Given the description of an element on the screen output the (x, y) to click on. 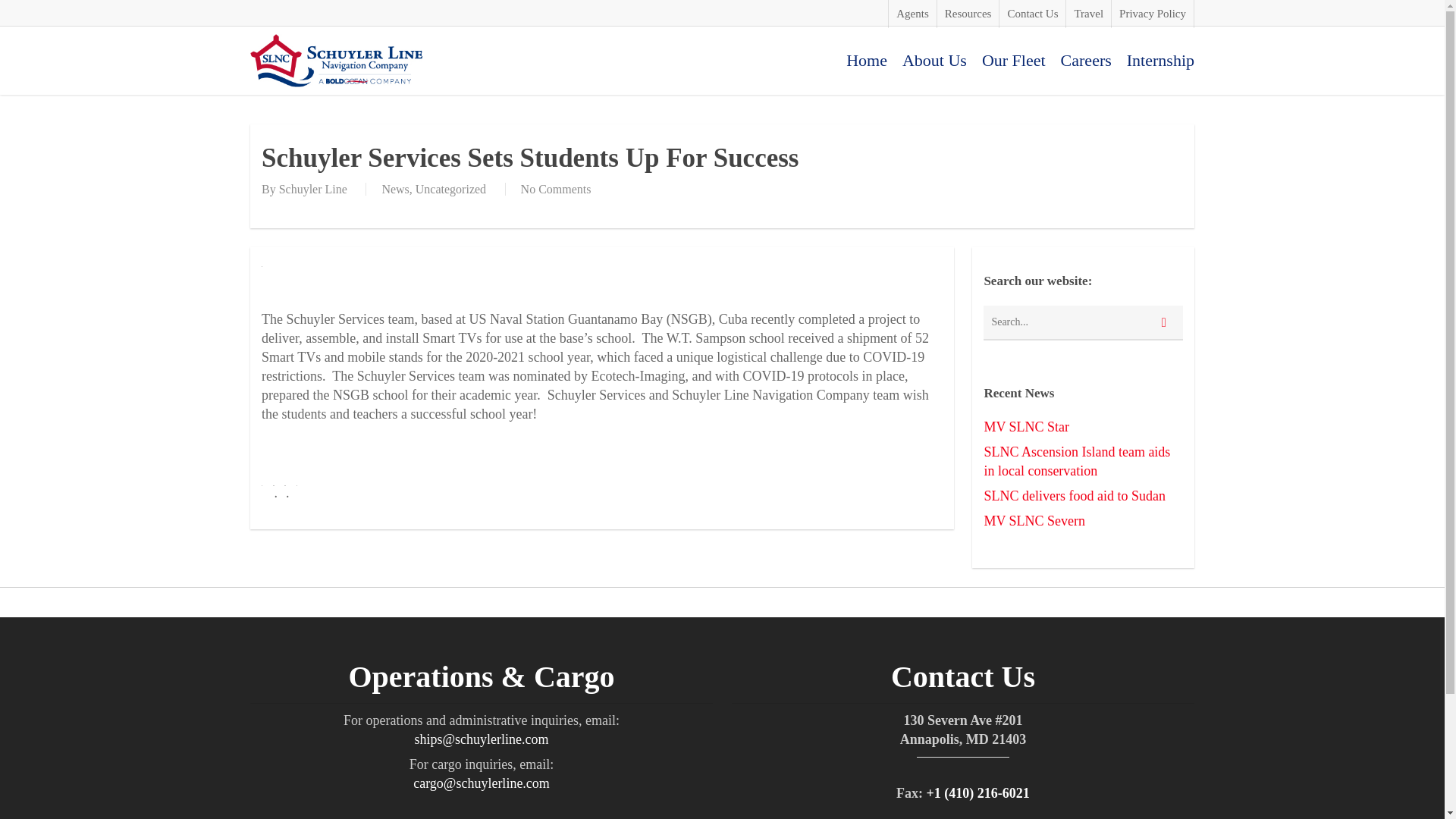
SLNC Ascension Island team aids in local conservation (1083, 461)
Posts by Schuyler Line (313, 188)
Our Fleet (1013, 60)
About Us (934, 60)
No Comments (556, 188)
Schuyler Line (313, 188)
Agents (912, 13)
Uncategorized (450, 188)
Privacy Policy (1151, 13)
News (395, 188)
